Given the description of an element on the screen output the (x, y) to click on. 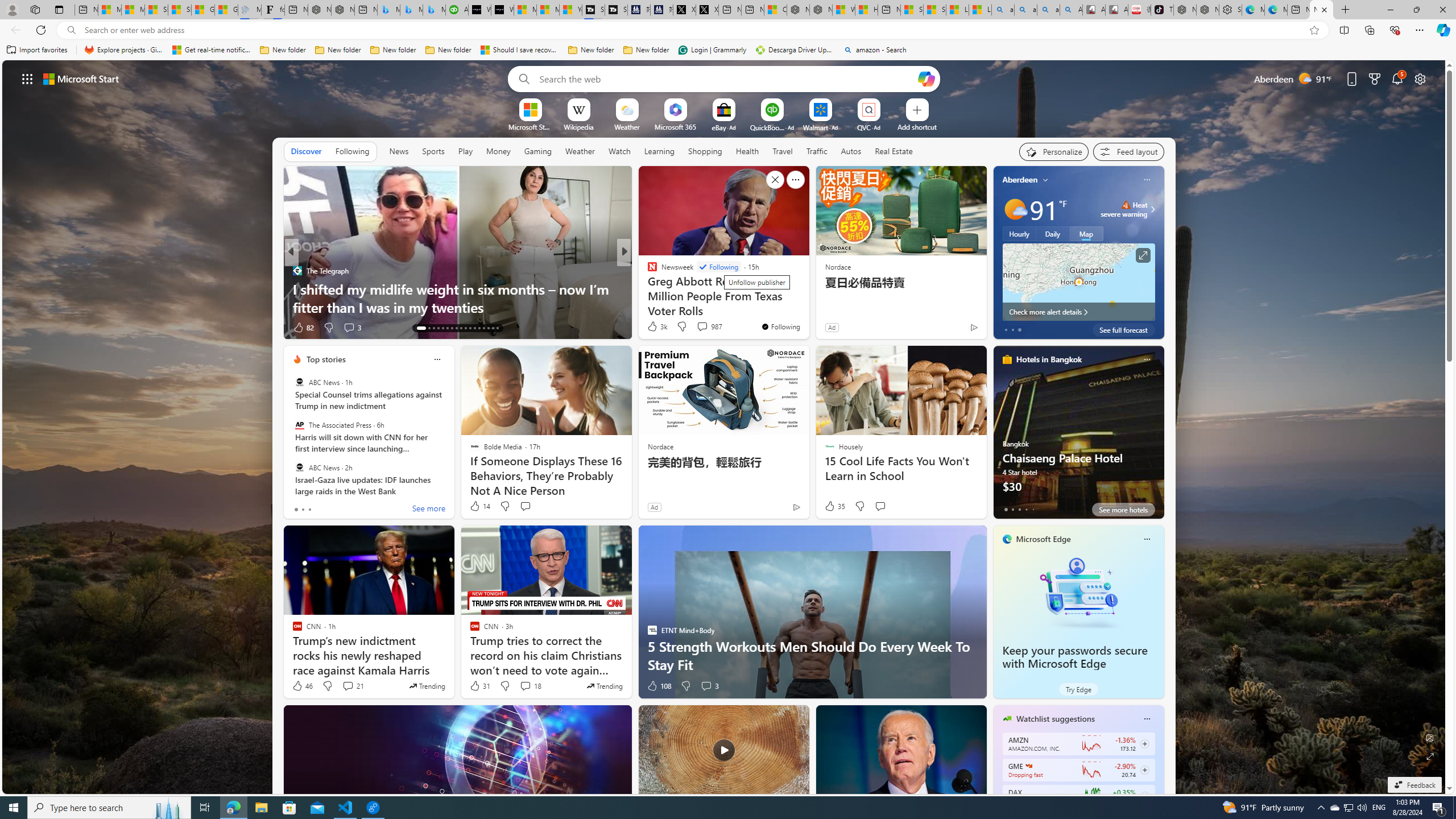
Feed settings (1128, 151)
ABC News (299, 466)
View comments 18 Comment (525, 685)
Health (746, 151)
AutomationID: backgroundImagePicture (723, 426)
tab-3 (1025, 509)
Try Edge (1078, 689)
3k Like (656, 326)
